Given the description of an element on the screen output the (x, y) to click on. 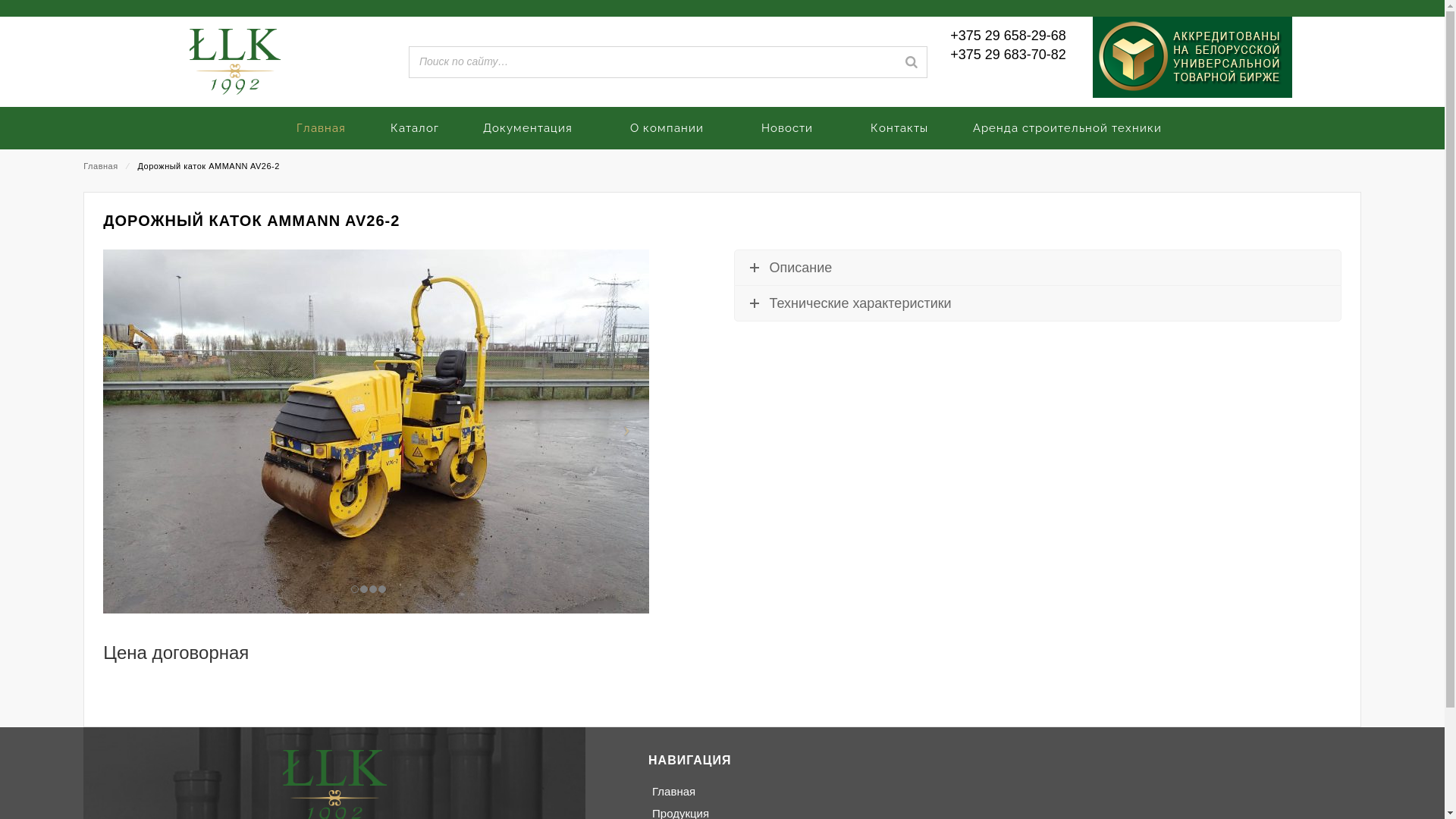
LLK Element type: hover (234, 61)
95f2cf6a-88fb-4697-8ab1-775110cf4d89 Element type: hover (376, 431)
+375 29 683-70-82 Element type: text (1008, 55)
+375 29 658-29-68 Element type: text (1008, 36)
